Given the description of an element on the screen output the (x, y) to click on. 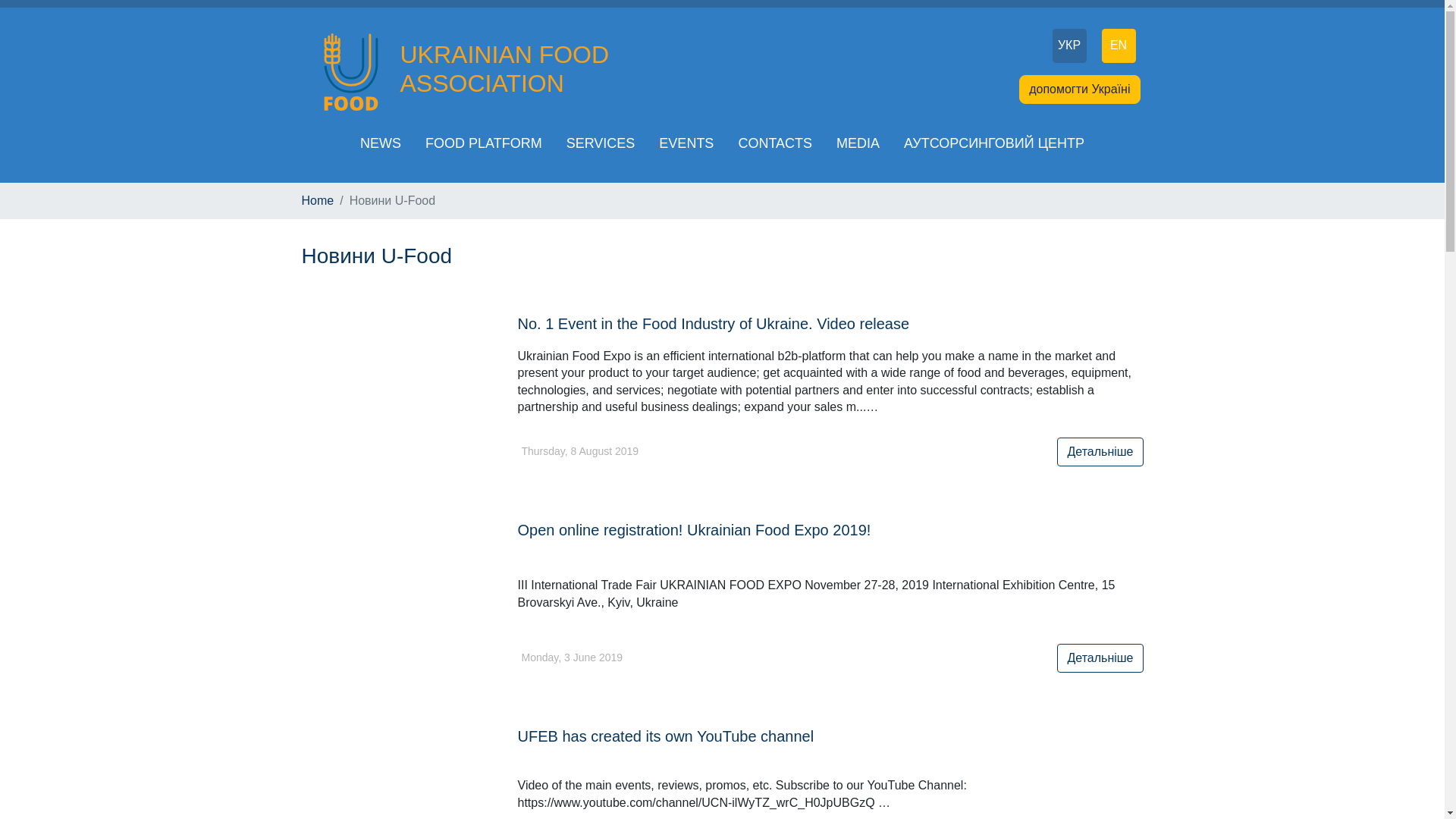
Home (317, 200)
NEWS (380, 143)
FOOD PLATFORM (483, 143)
No. 1 Event in the Food Industry of Ukraine. Video release (712, 323)
EN (1117, 45)
EVENTS (685, 143)
MEDIA (857, 143)
CONTACTS (774, 143)
SERVICES (600, 143)
UFEB has created its own YouTube channel (664, 736)
